Given the description of an element on the screen output the (x, y) to click on. 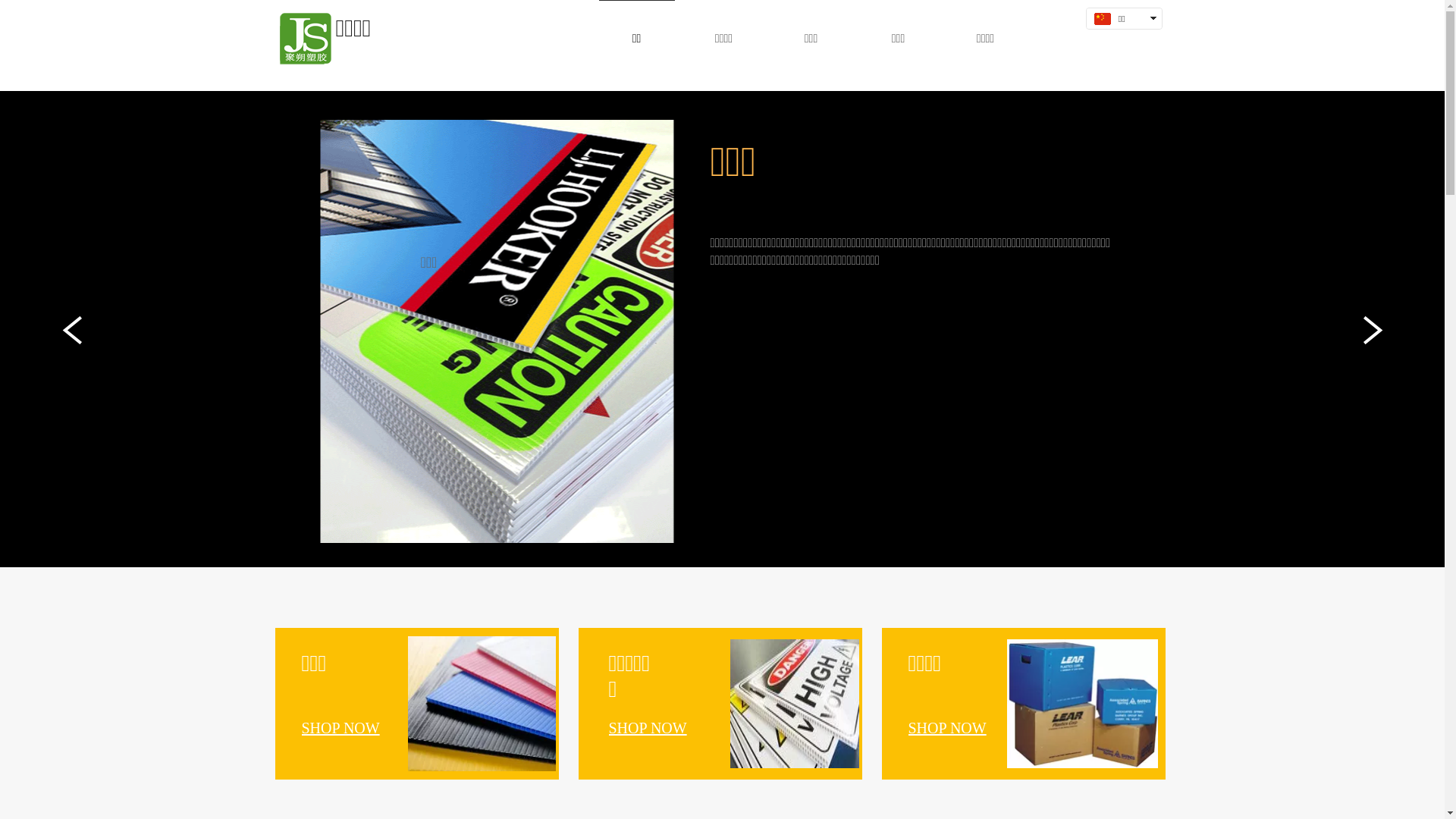
SHOP NOW Element type: text (647, 727)
SHOP NOW Element type: text (340, 727)
SHOP NOW Element type: text (947, 727)
  Element type: text (1119, 38)
